Given the description of an element on the screen output the (x, y) to click on. 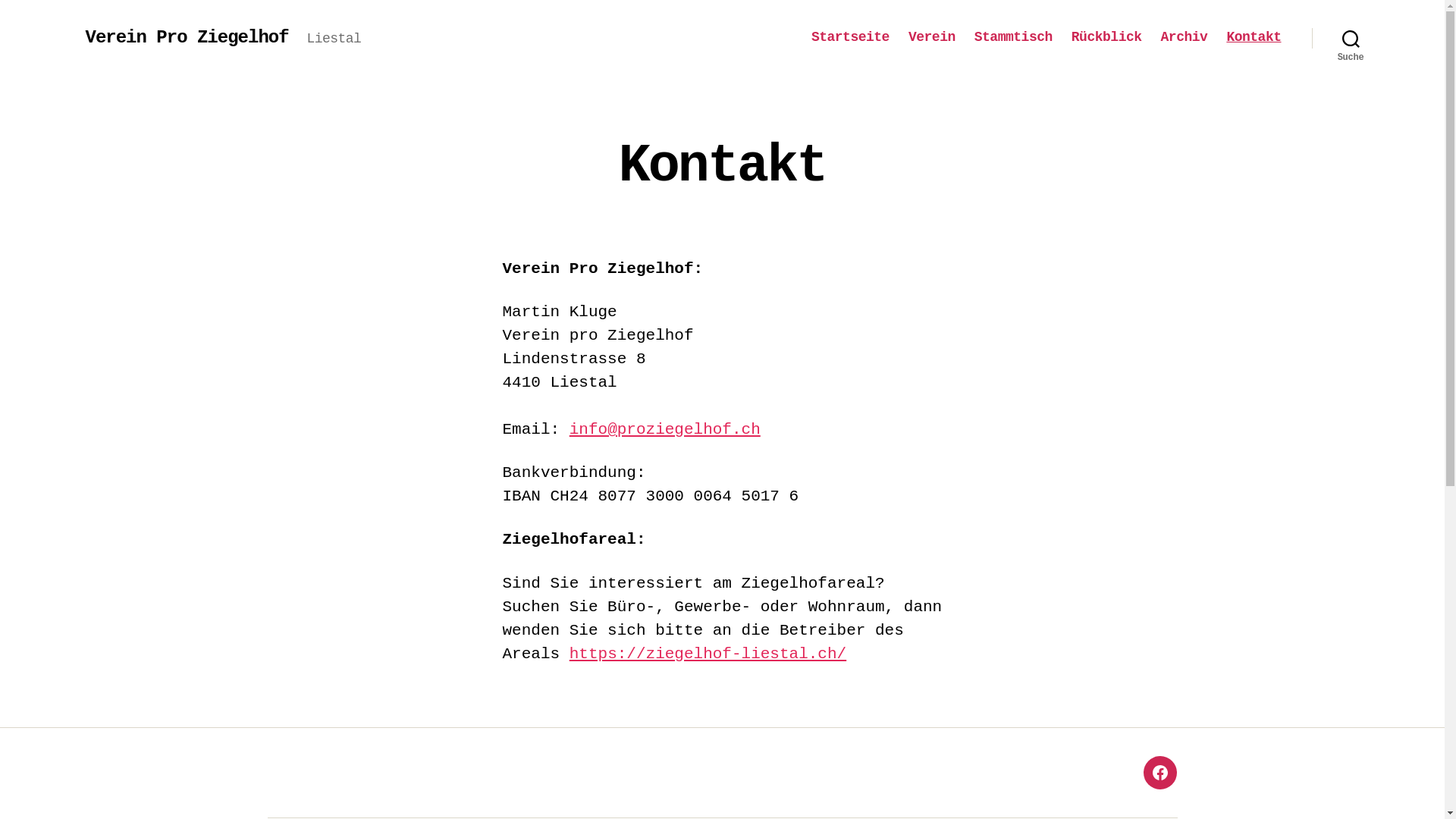
Archiv Element type: text (1184, 37)
Suche Element type: text (1350, 37)
Verein Element type: text (931, 37)
Stammtisch Element type: text (1013, 37)
https://ziegelhof-liestal.ch/ Element type: text (707, 653)
Startseite Element type: text (850, 37)
Verein Pro Ziegelhof Element type: text (186, 37)
Kontakt Element type: text (1253, 37)
Folgen Sie uns auf Facebook Element type: text (1159, 771)
info@proziegelhof.ch Element type: text (664, 429)
